Given the description of an element on the screen output the (x, y) to click on. 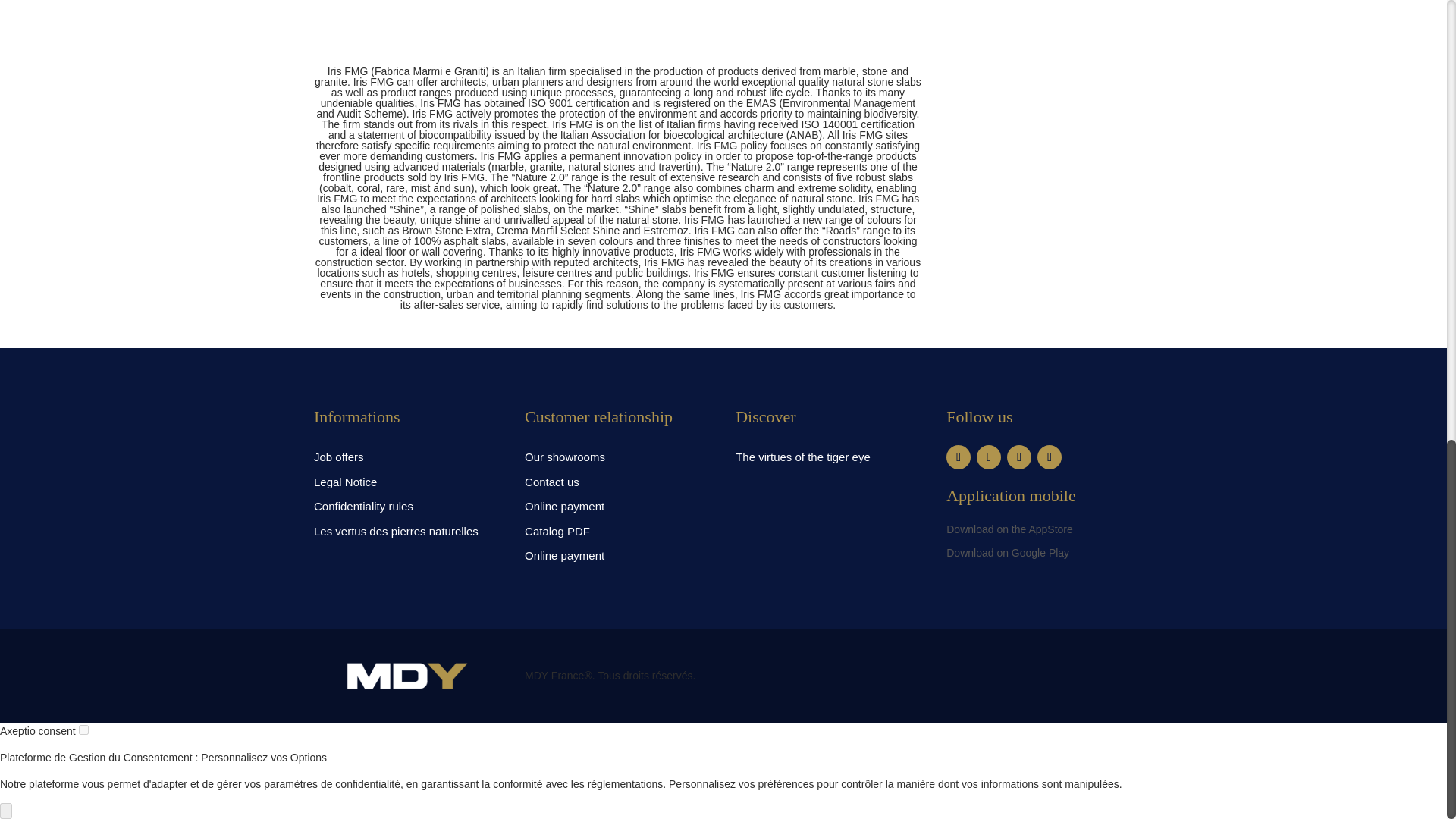
Follow on Facebook (958, 457)
Follow on Pinterest (1018, 457)
Follow on Instagram (988, 457)
Follow on LinkedIn (1048, 457)
